Given the description of an element on the screen output the (x, y) to click on. 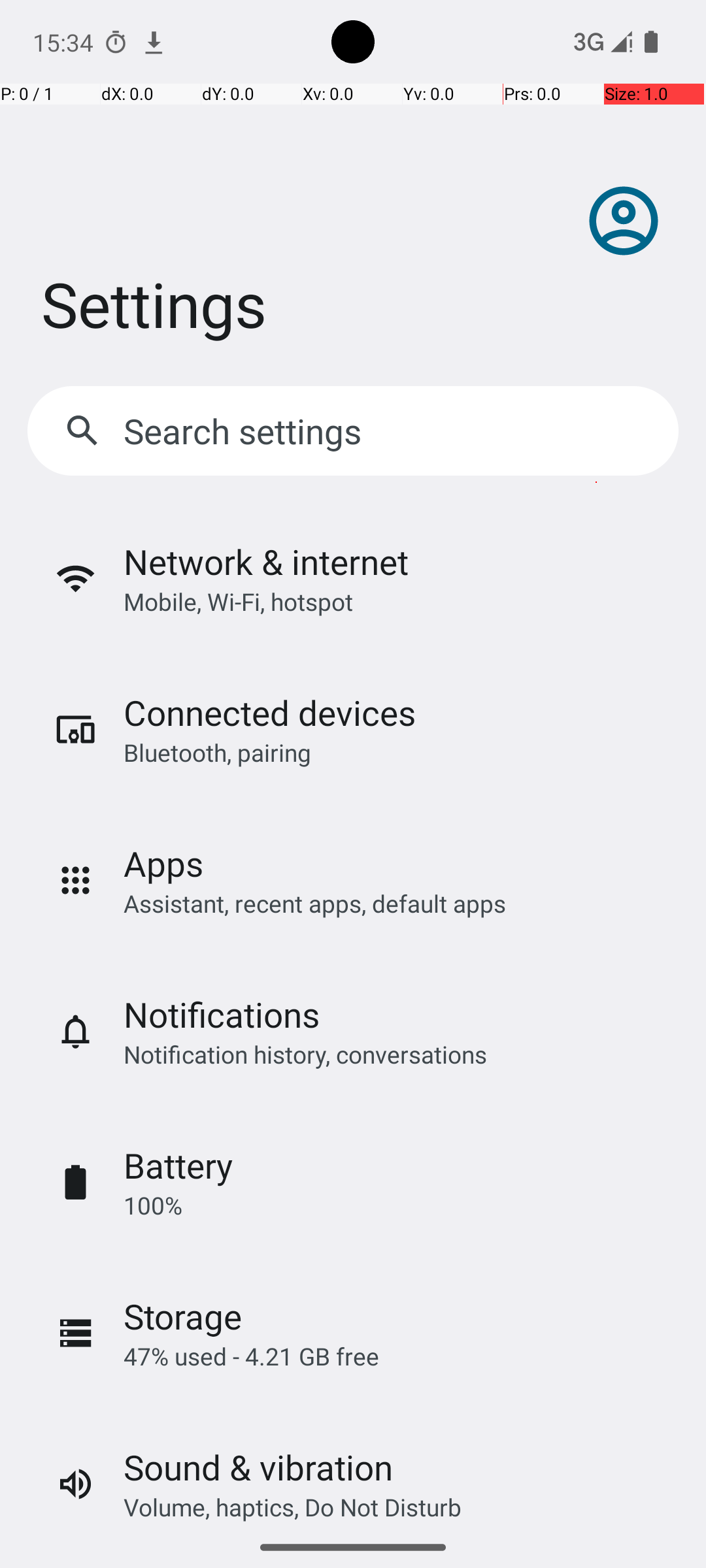
47% used - 4.21 GB free Element type: android.widget.TextView (251, 1355)
